Given the description of an element on the screen output the (x, y) to click on. 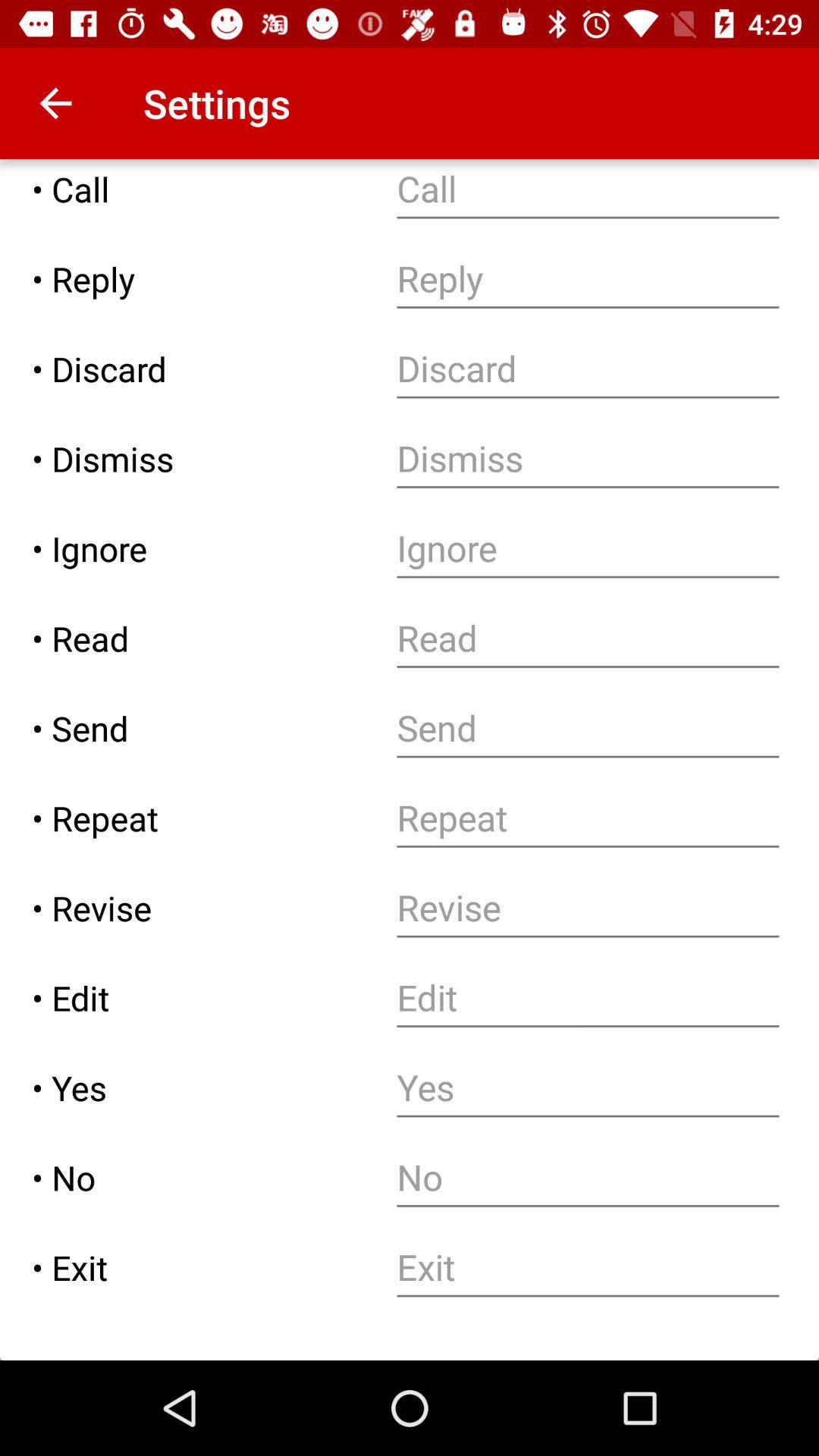
revision input (588, 908)
